Given the description of an element on the screen output the (x, y) to click on. 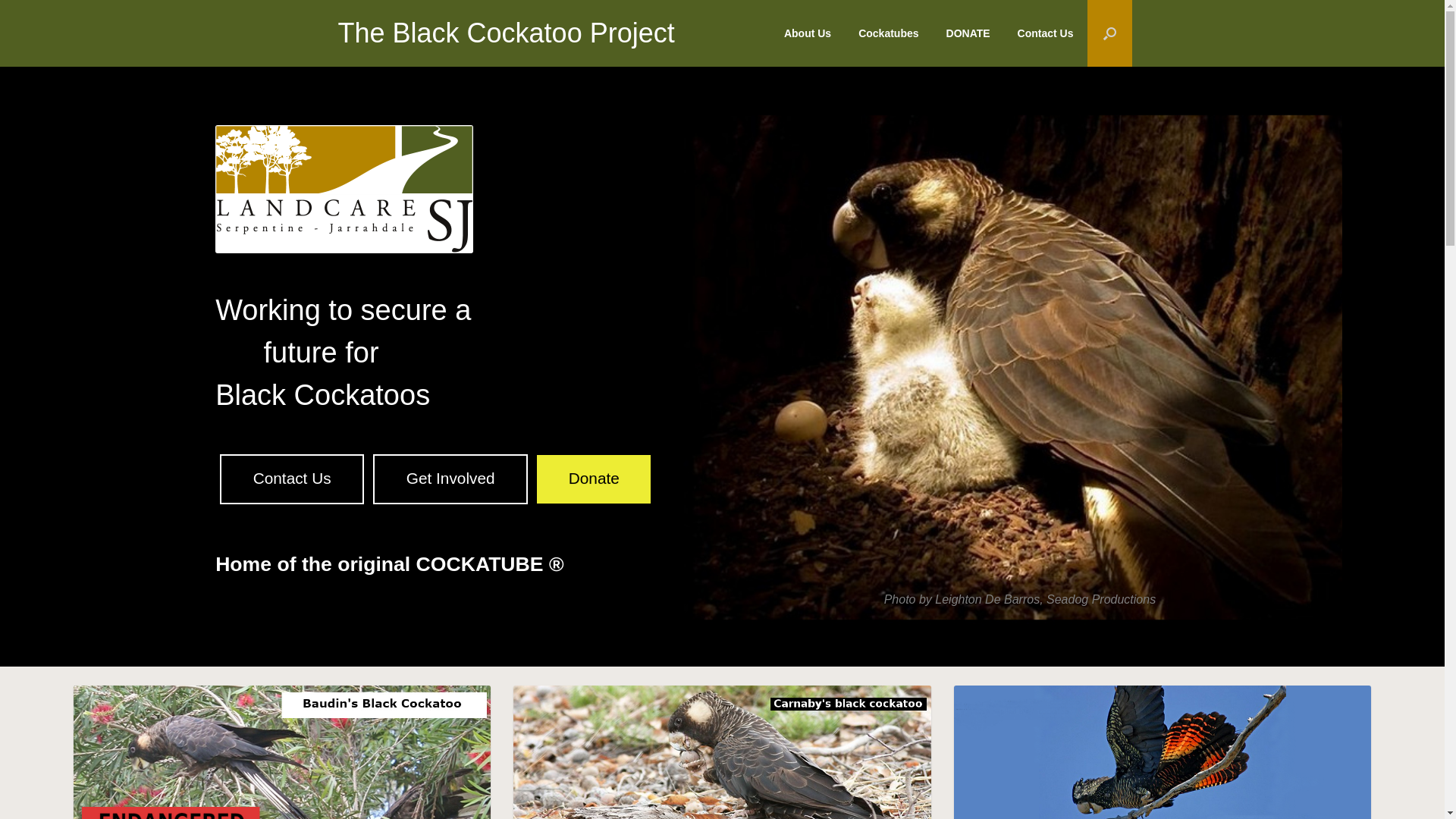
About Us Element type: text (807, 33)
Contact Us Element type: text (1045, 33)
Cockatubes Element type: text (887, 33)
Donate Element type: text (593, 479)
DONATE Element type: text (968, 33)
Contact Us Element type: text (291, 479)
The Black Cockatoo Project Element type: text (505, 33)
Get Involved Element type: text (450, 479)
